Given the description of an element on the screen output the (x, y) to click on. 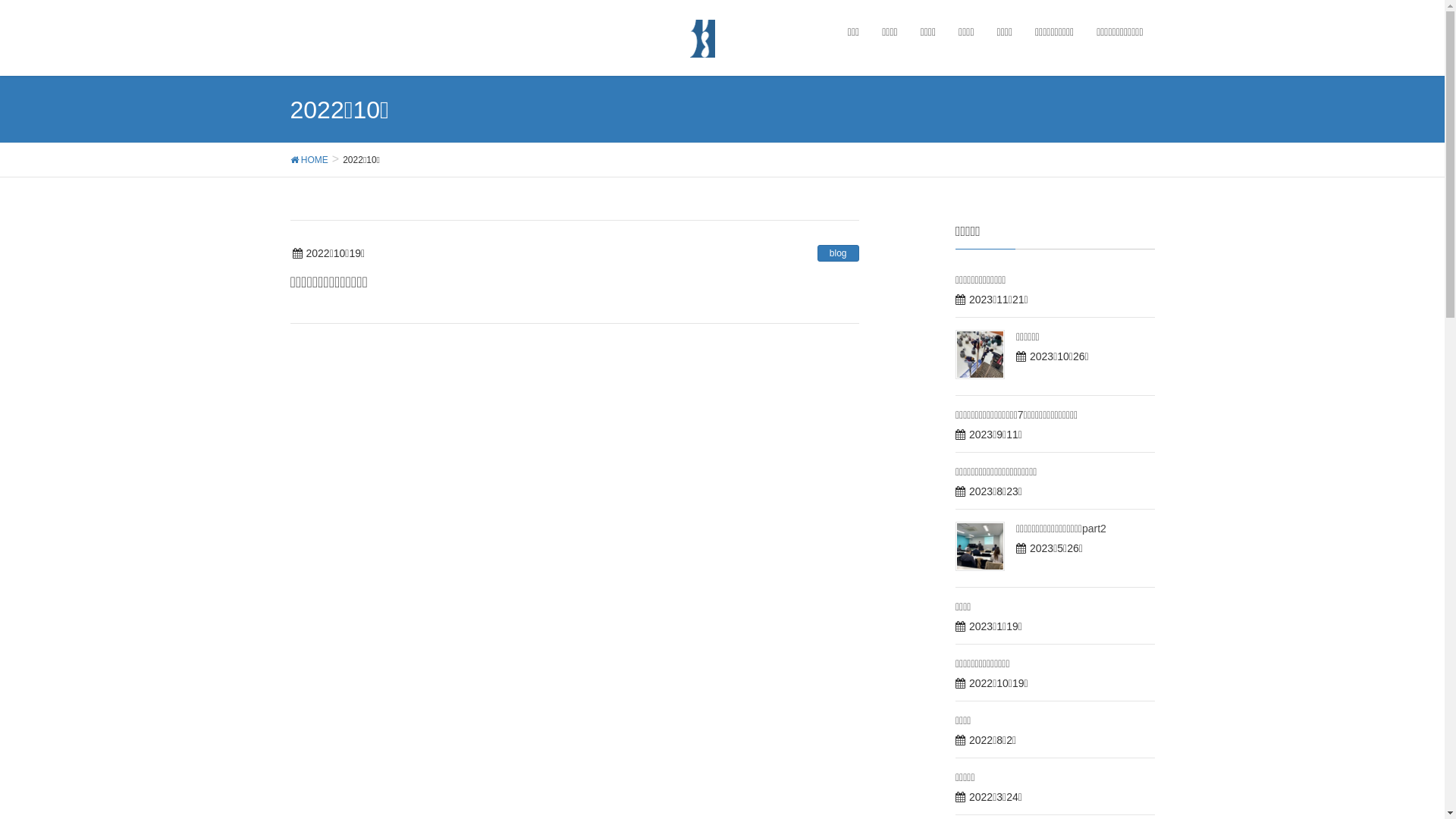
HOME Element type: text (308, 158)
blog Element type: text (838, 252)
